Given the description of an element on the screen output the (x, y) to click on. 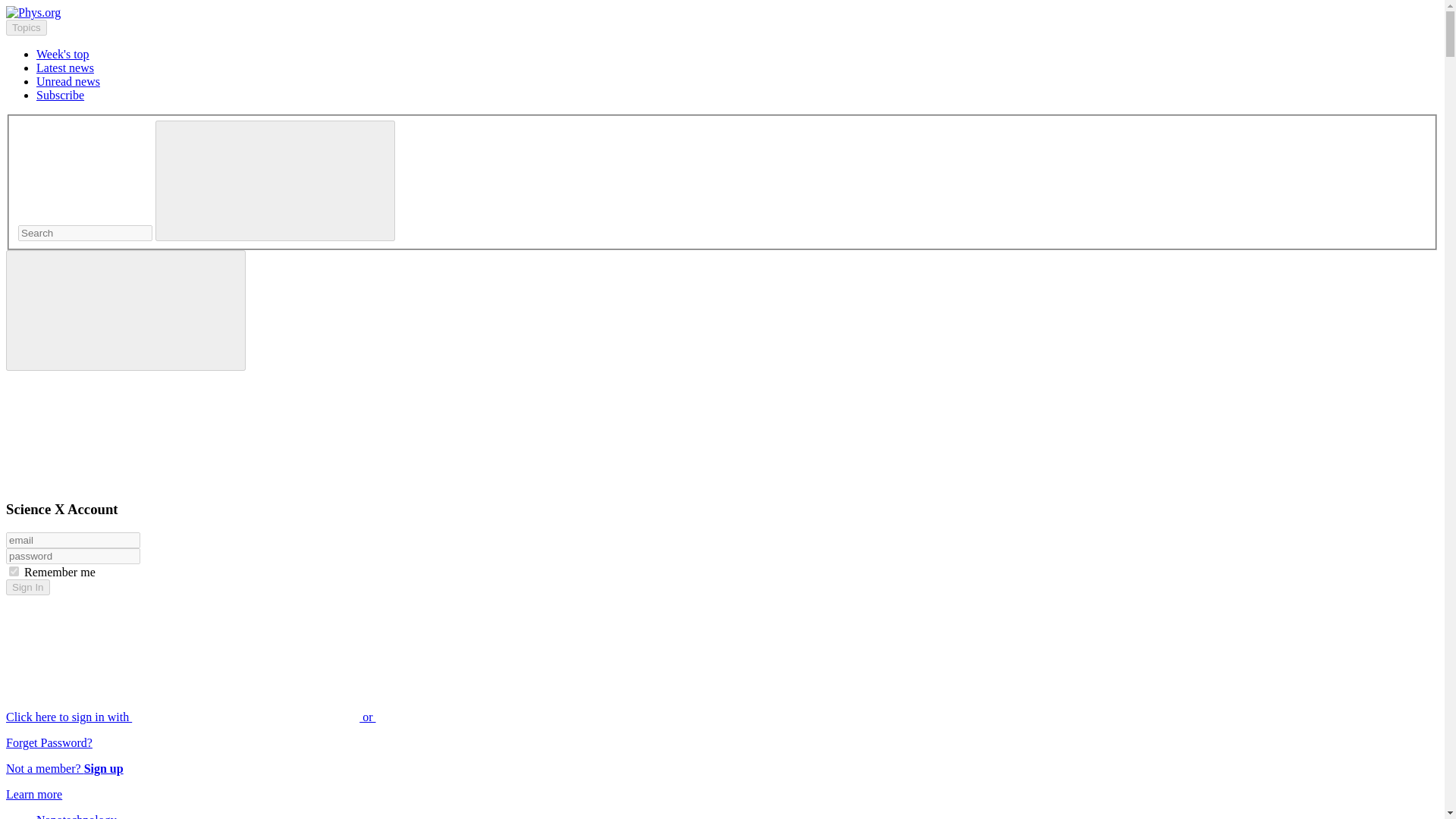
Not a member? Sign up (64, 768)
Nanotechnology (76, 816)
Forget Password? (49, 742)
Subscribe (60, 94)
Click here to sign in with or (304, 716)
Week's top (62, 53)
on (13, 571)
Latest news (65, 67)
Unread news (68, 81)
Learn more (33, 793)
